Given the description of an element on the screen output the (x, y) to click on. 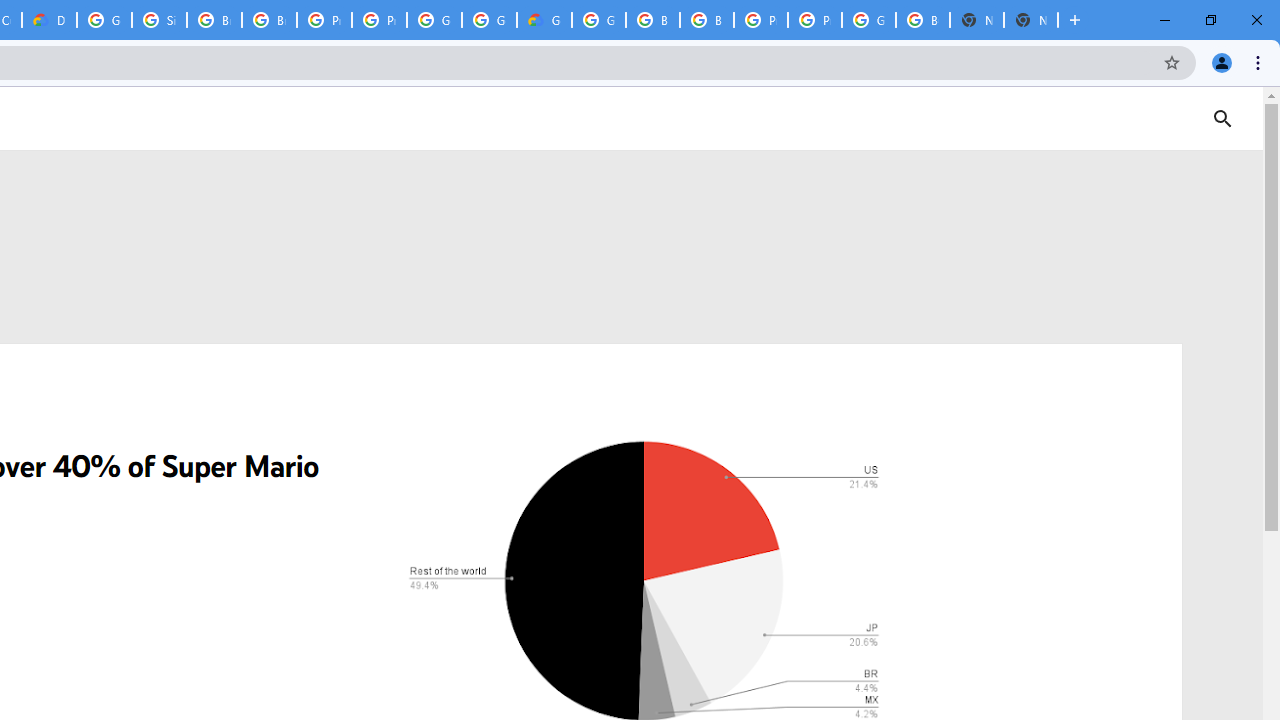
Browse Chrome as a guest - Computer - Google Chrome Help (706, 20)
Google Cloud Platform (598, 20)
Google Cloud Platform (868, 20)
Google Cloud Platform (434, 20)
Google Cloud Platform (103, 20)
Browse Chrome as a guest - Computer - Google Chrome Help (268, 20)
